Given the description of an element on the screen output the (x, y) to click on. 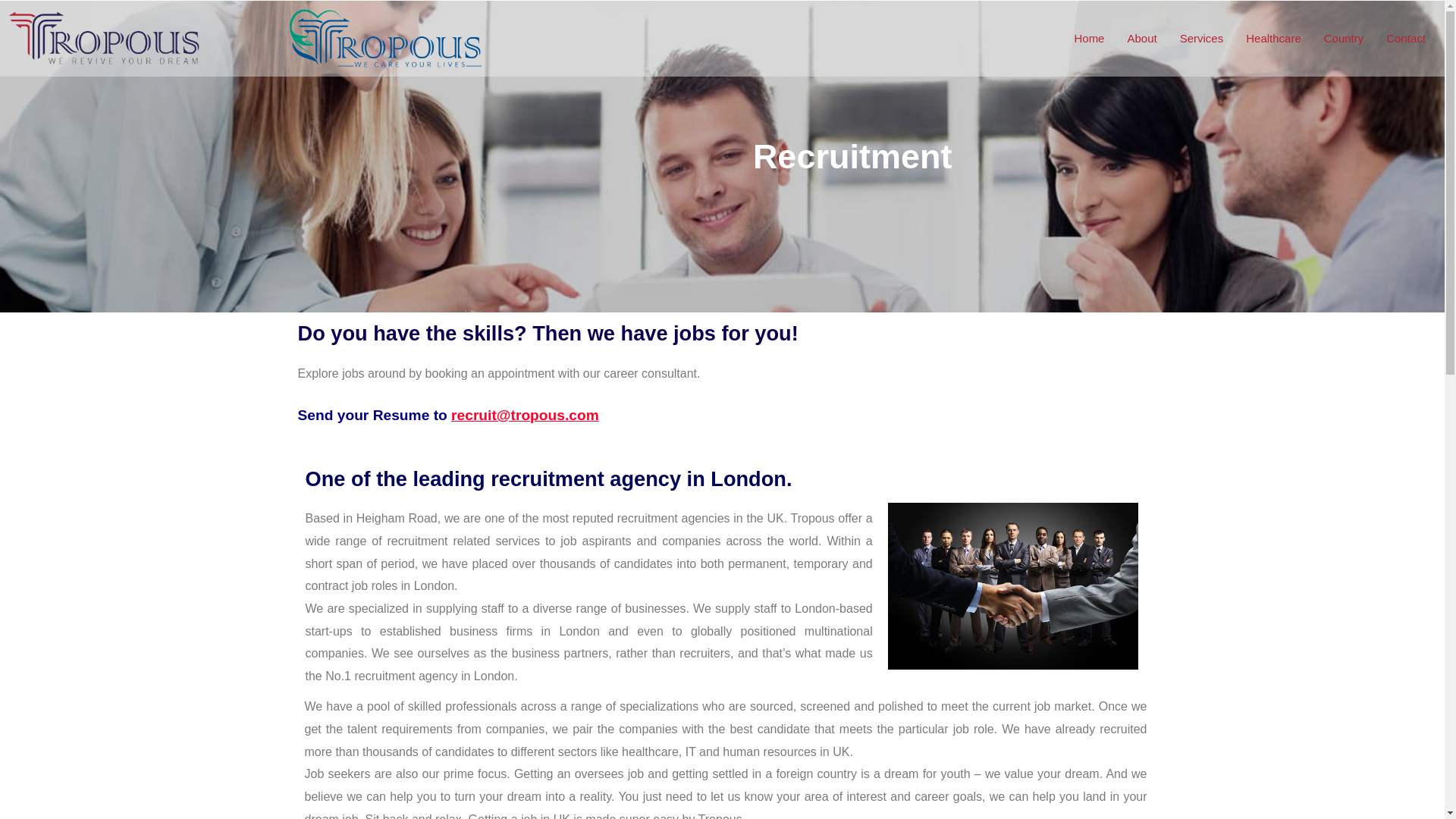
Healthcare (1273, 38)
Home (1088, 38)
Country (1344, 38)
Contact (1405, 38)
Services (1201, 38)
About (1141, 38)
